Given the description of an element on the screen output the (x, y) to click on. 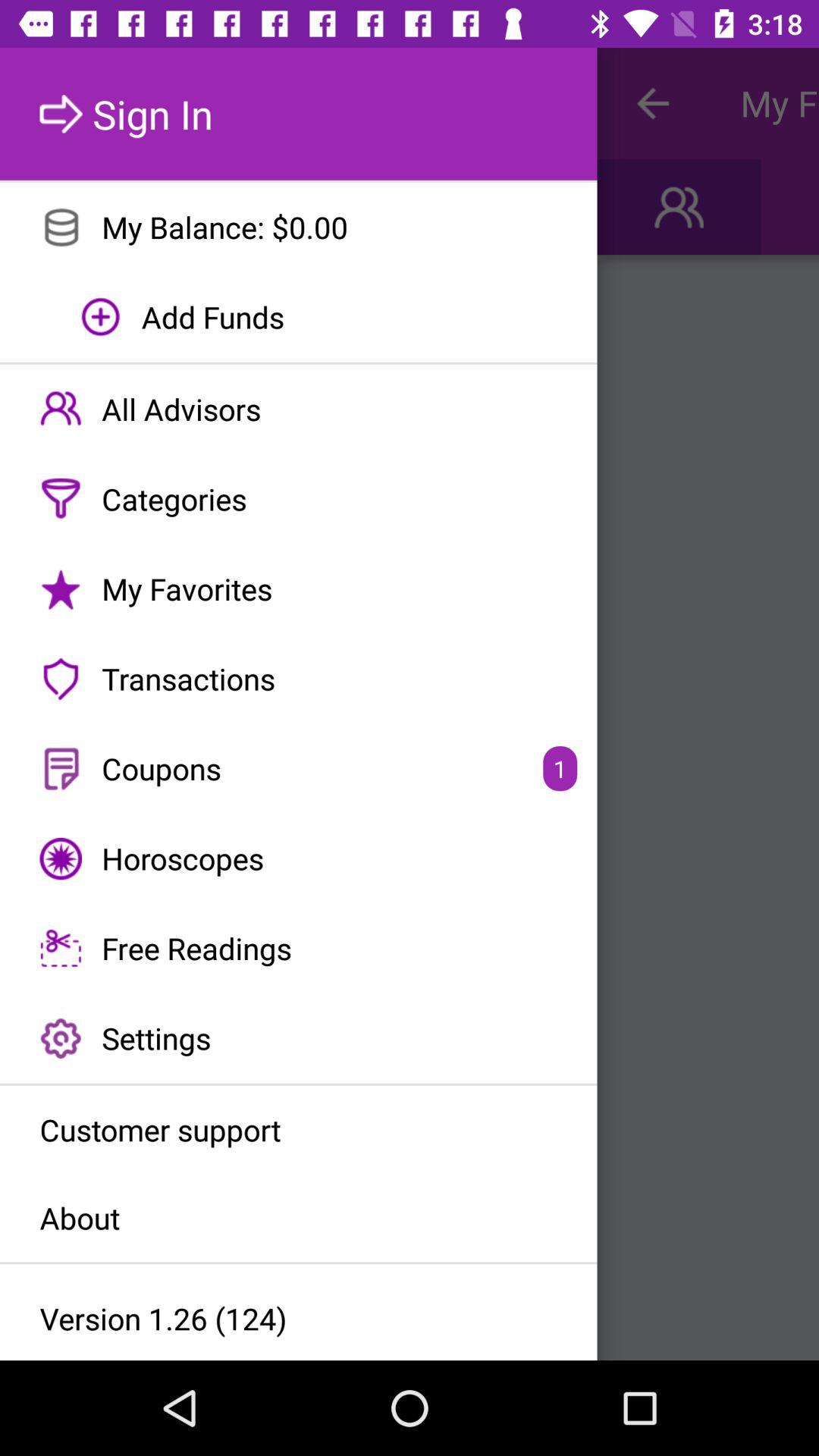
launch item below customer support (298, 1217)
